Given the description of an element on the screen output the (x, y) to click on. 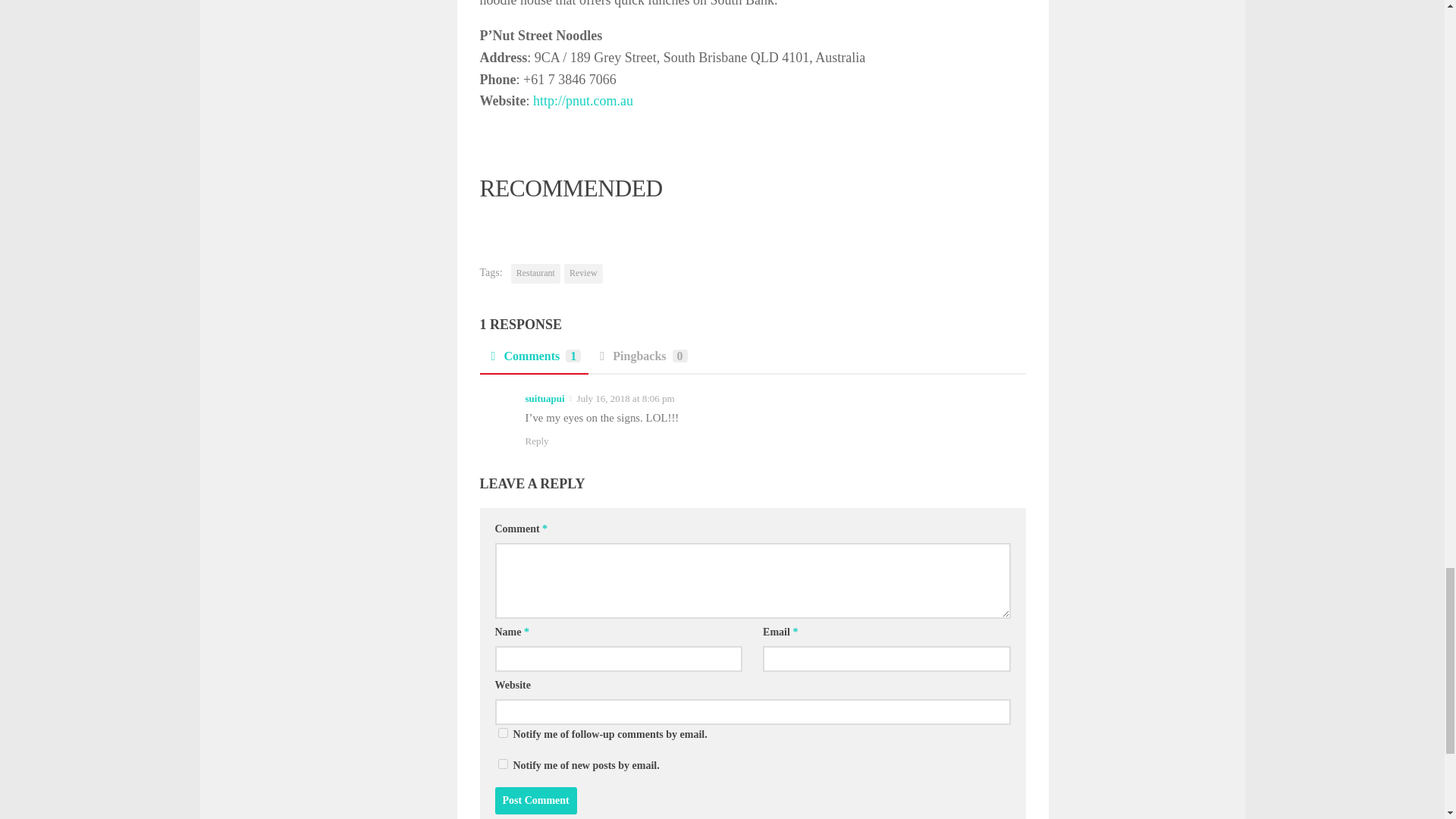
subscribe (501, 732)
Post Comment (535, 800)
subscribe (501, 764)
